Given the description of an element on the screen output the (x, y) to click on. 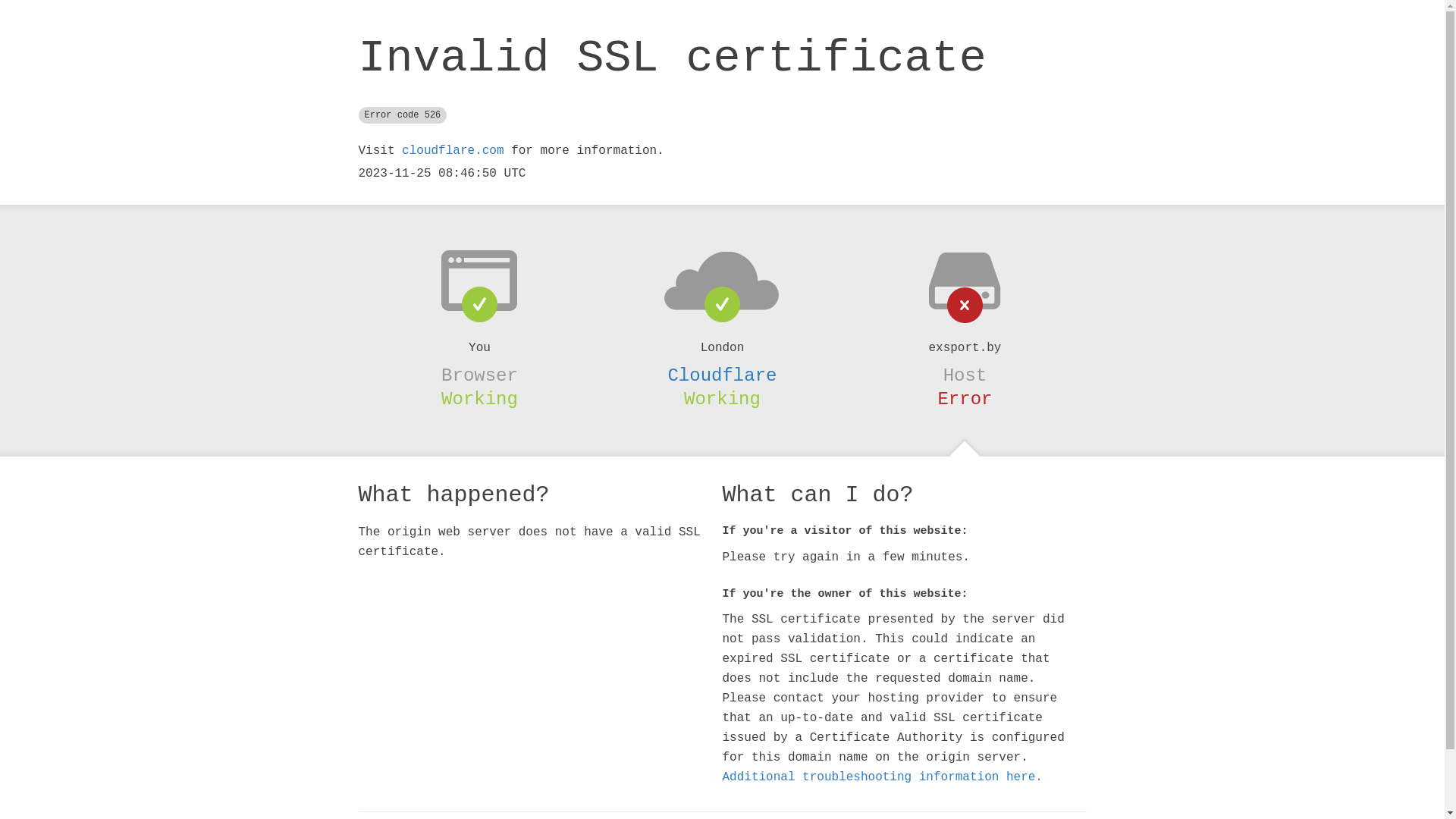
Additional troubleshooting information here. Element type: text (881, 777)
Cloudflare Element type: text (721, 375)
cloudflare.com Element type: text (452, 150)
